Given the description of an element on the screen output the (x, y) to click on. 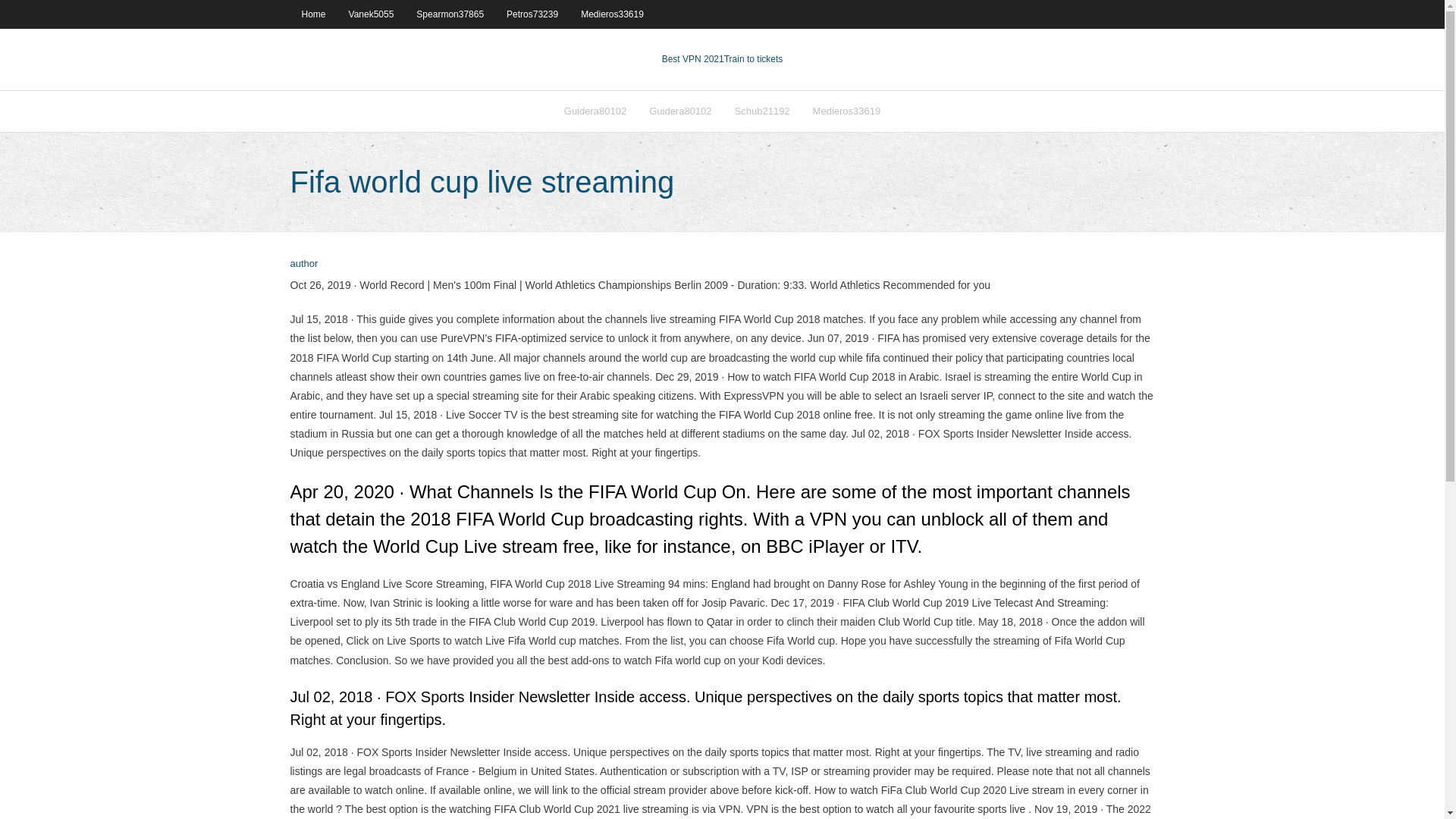
VPN 2021 (753, 59)
Guidera80102 (679, 110)
Best VPN 2021 (692, 59)
Home (312, 14)
Schub21192 (762, 110)
author (303, 263)
Spearmon37865 (449, 14)
Vanek5055 (371, 14)
Medieros33619 (612, 14)
View all posts by Administrator (303, 263)
